Given the description of an element on the screen output the (x, y) to click on. 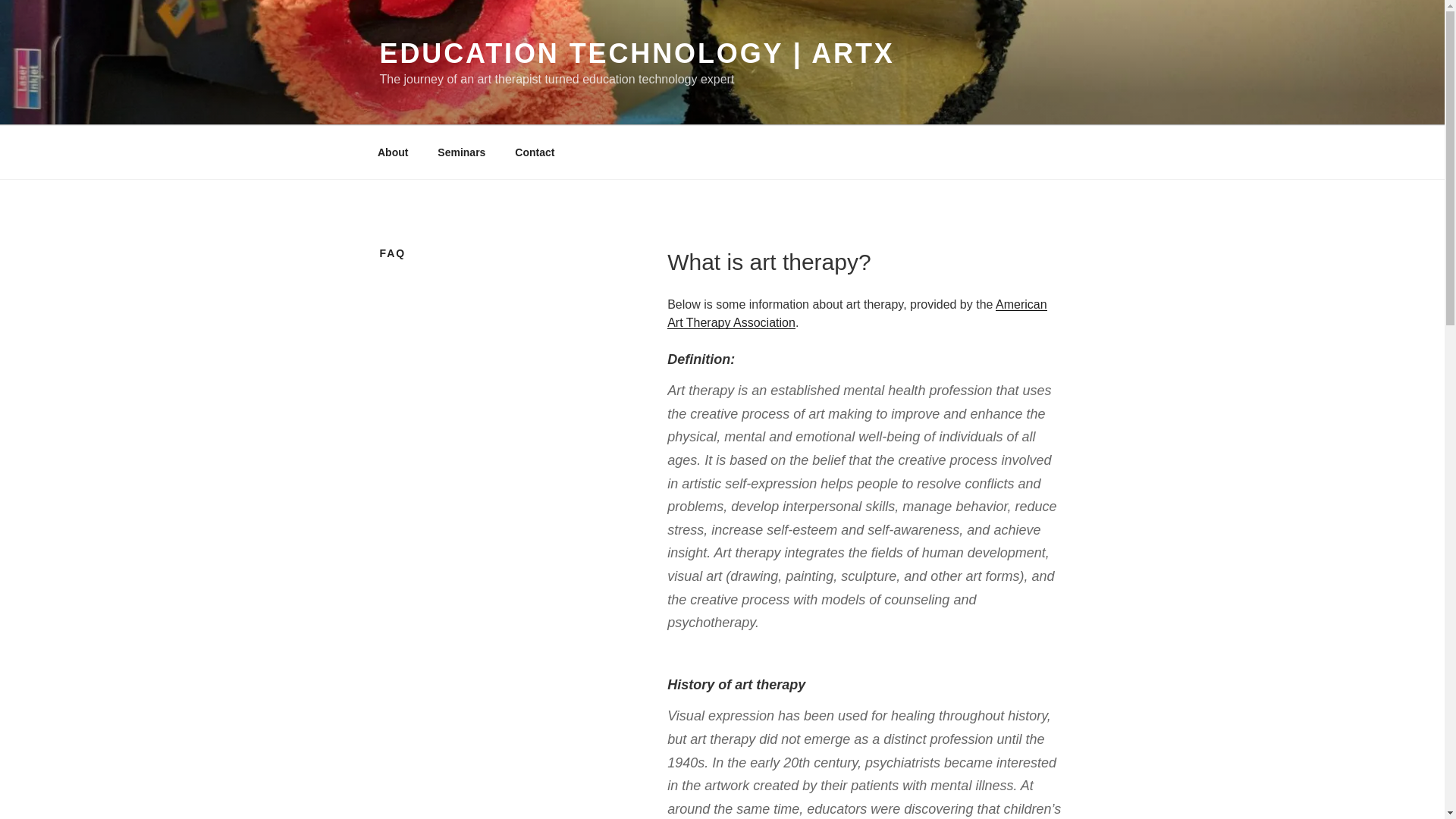
Contact (534, 151)
Seminars (462, 151)
About (392, 151)
American Art Therapy Association (856, 312)
